Given the description of an element on the screen output the (x, y) to click on. 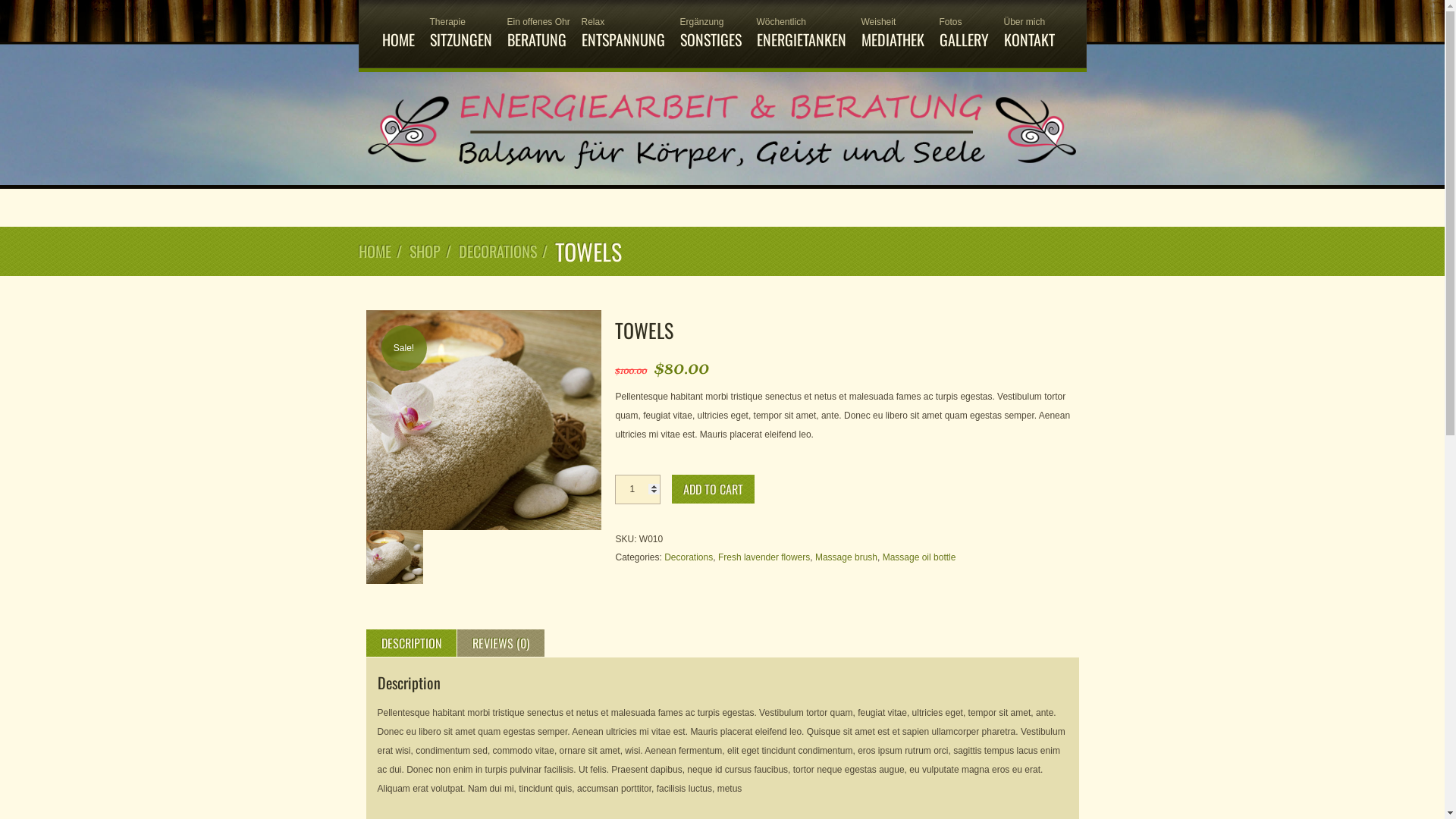
Massage oil bottle Element type: text (919, 557)
REVIEWS (0) Element type: text (499, 642)
DECORATIONS Element type: text (497, 251)
Decorations Element type: text (688, 557)
Fresh lavender flowers Element type: text (763, 557)
Qty Element type: hover (637, 489)
SHOP Element type: text (424, 251)
Relax
ENTSPANNUNG Element type: text (622, 34)
Weisheit
MEDIATHEK Element type: text (892, 34)
Massage brush Element type: text (846, 557)
Willkommen bei Anima-Animus Element type: hover (721, 175)
p11 Element type: hover (482, 420)
Therapie
SITZUNGEN Element type: text (460, 34)
Willkommen bei Anima-Animus Element type: hover (721, 129)
HOME Element type: text (373, 251)
ADD TO CART Element type: text (712, 488)
HOME Element type: text (398, 34)
Ein offenes Ohr
BERATUNG Element type: text (535, 34)
Fotos
GALLERY Element type: text (963, 34)
DESCRIPTION Element type: text (410, 642)
